Given the description of an element on the screen output the (x, y) to click on. 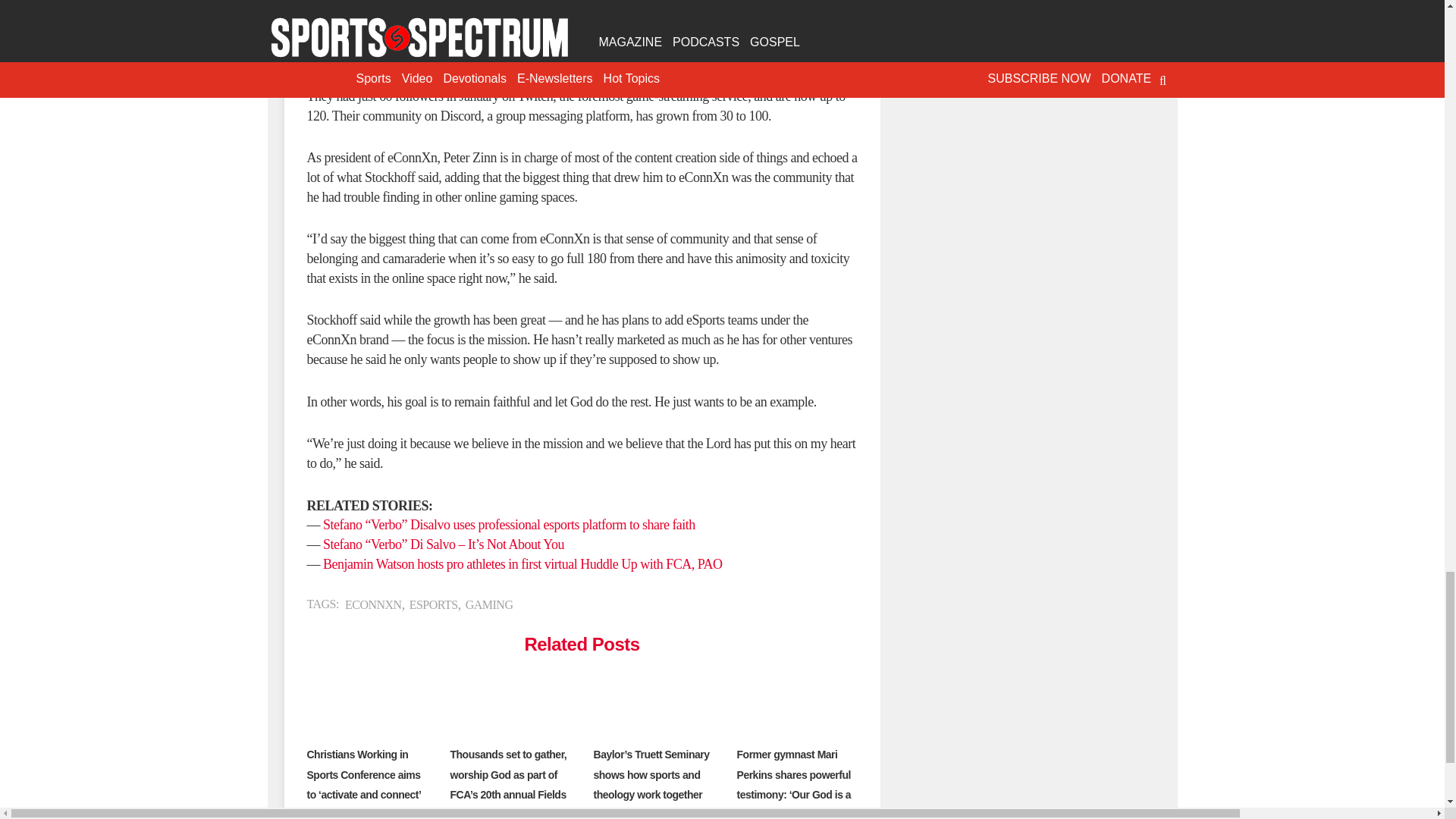
ECONNXN (373, 604)
ESPORTS (433, 604)
